Given the description of an element on the screen output the (x, y) to click on. 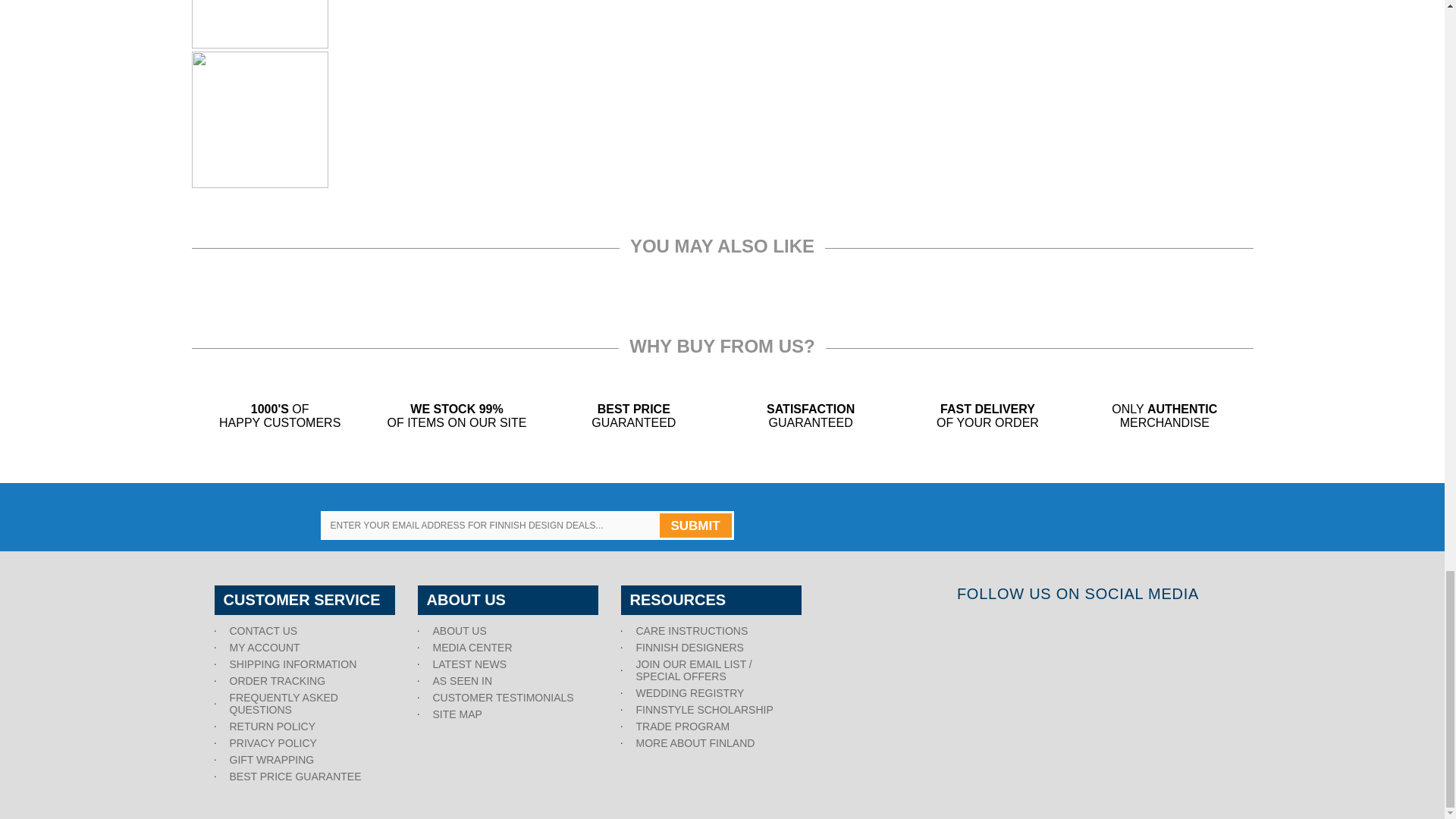
SUBMIT (695, 525)
